Given the description of an element on the screen output the (x, y) to click on. 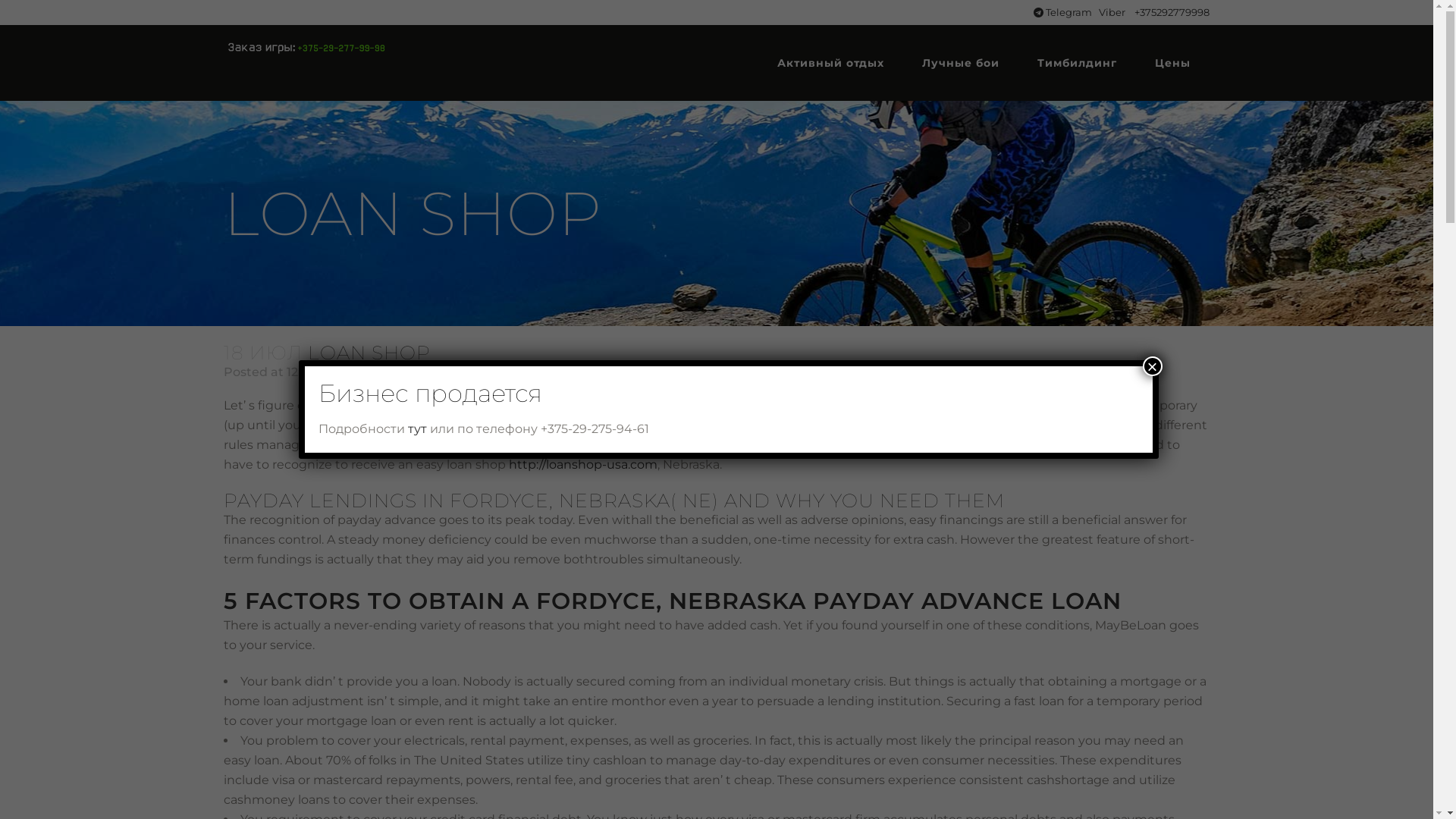
0 Comments Element type: text (534, 371)
http://loanshop-usa.com Element type: text (582, 464)
+375292779998 Element type: text (1171, 12)
Viber Element type: text (1112, 12)
0 Likes Element type: text (614, 372)
miljuroca Element type: text (451, 371)
Telegram Element type: text (1062, 12)
loan shop Element type: text (371, 371)
